Given the description of an element on the screen output the (x, y) to click on. 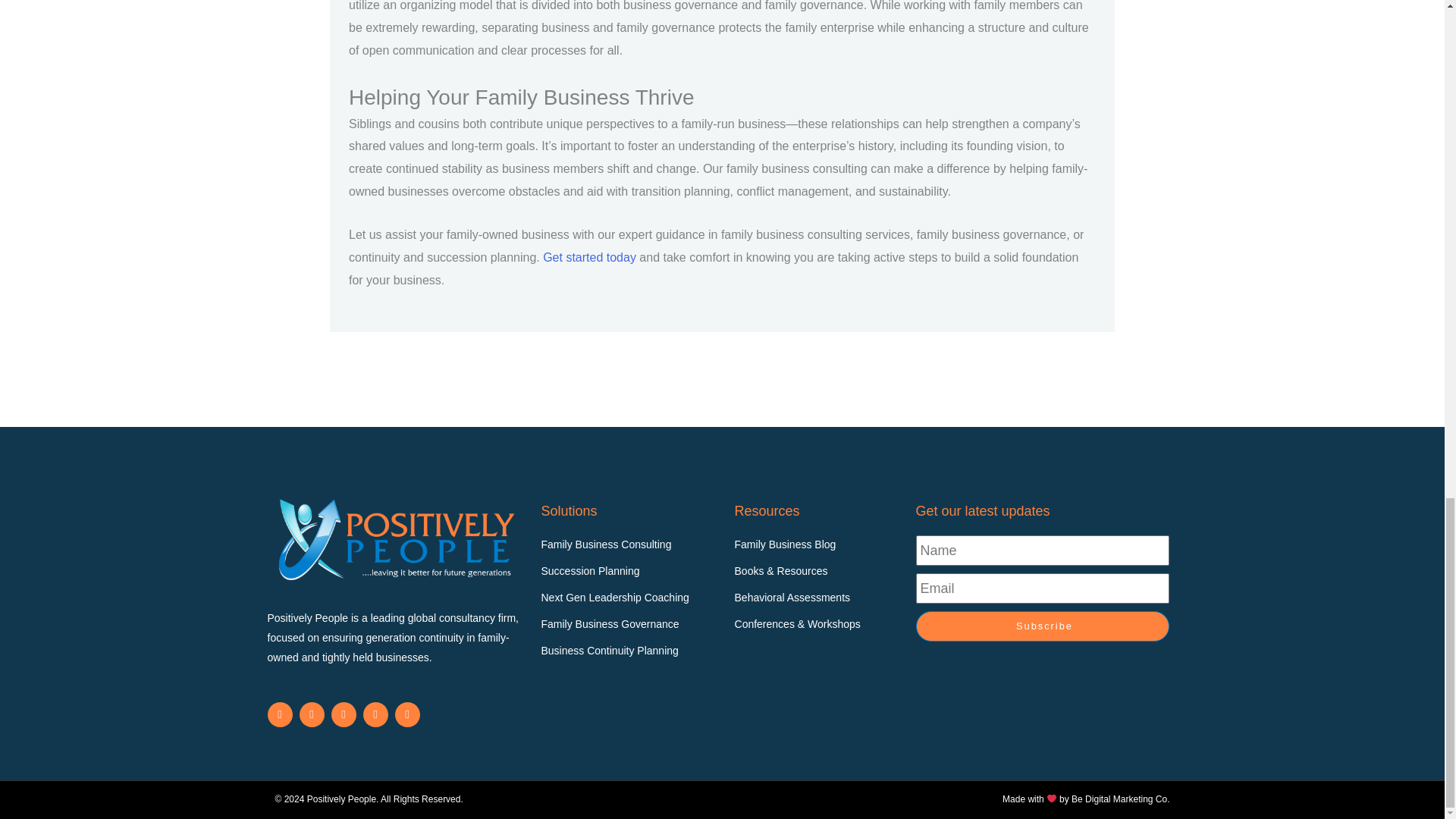
Family Business Consulting (629, 545)
Succession Planning (629, 571)
Google (406, 714)
Next Gen Leadership Coaching (629, 598)
Linkedin (279, 714)
Facebook-f (310, 714)
Get started today (589, 256)
Rss (374, 714)
Youtube (342, 714)
